Given the description of an element on the screen output the (x, y) to click on. 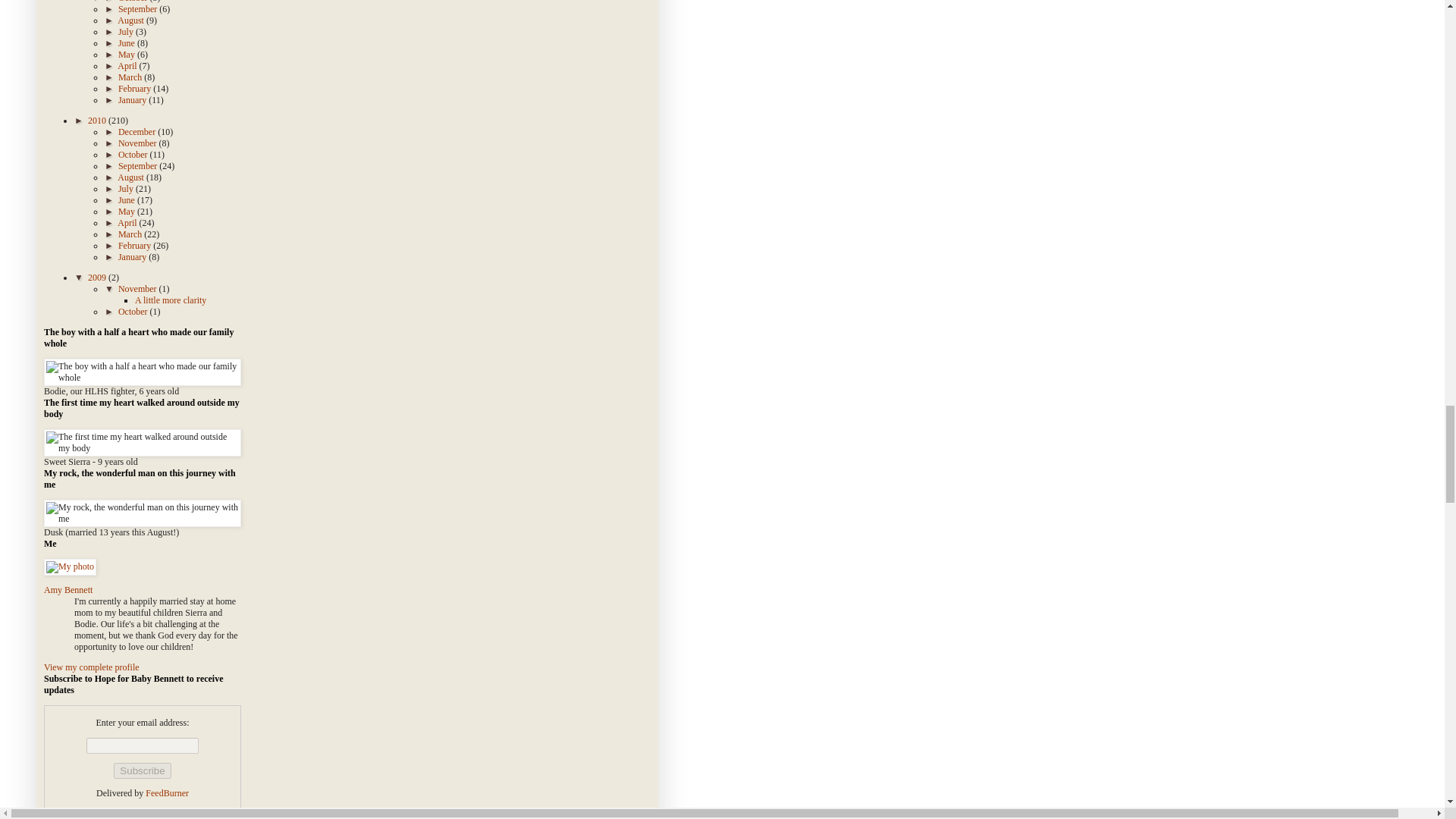
Subscribe (141, 770)
